Given the description of an element on the screen output the (x, y) to click on. 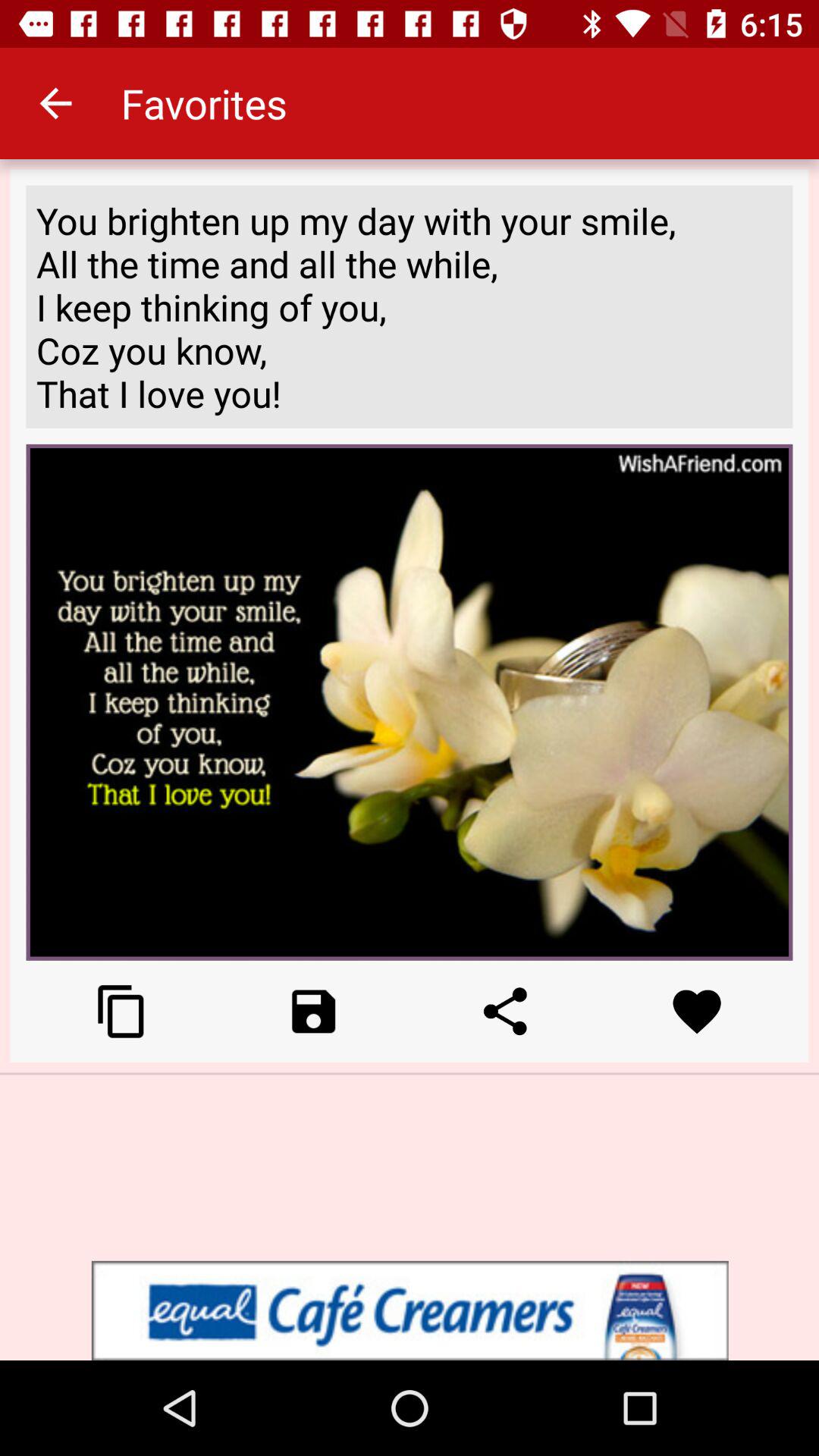
copy the text (121, 1011)
